Given the description of an element on the screen output the (x, y) to click on. 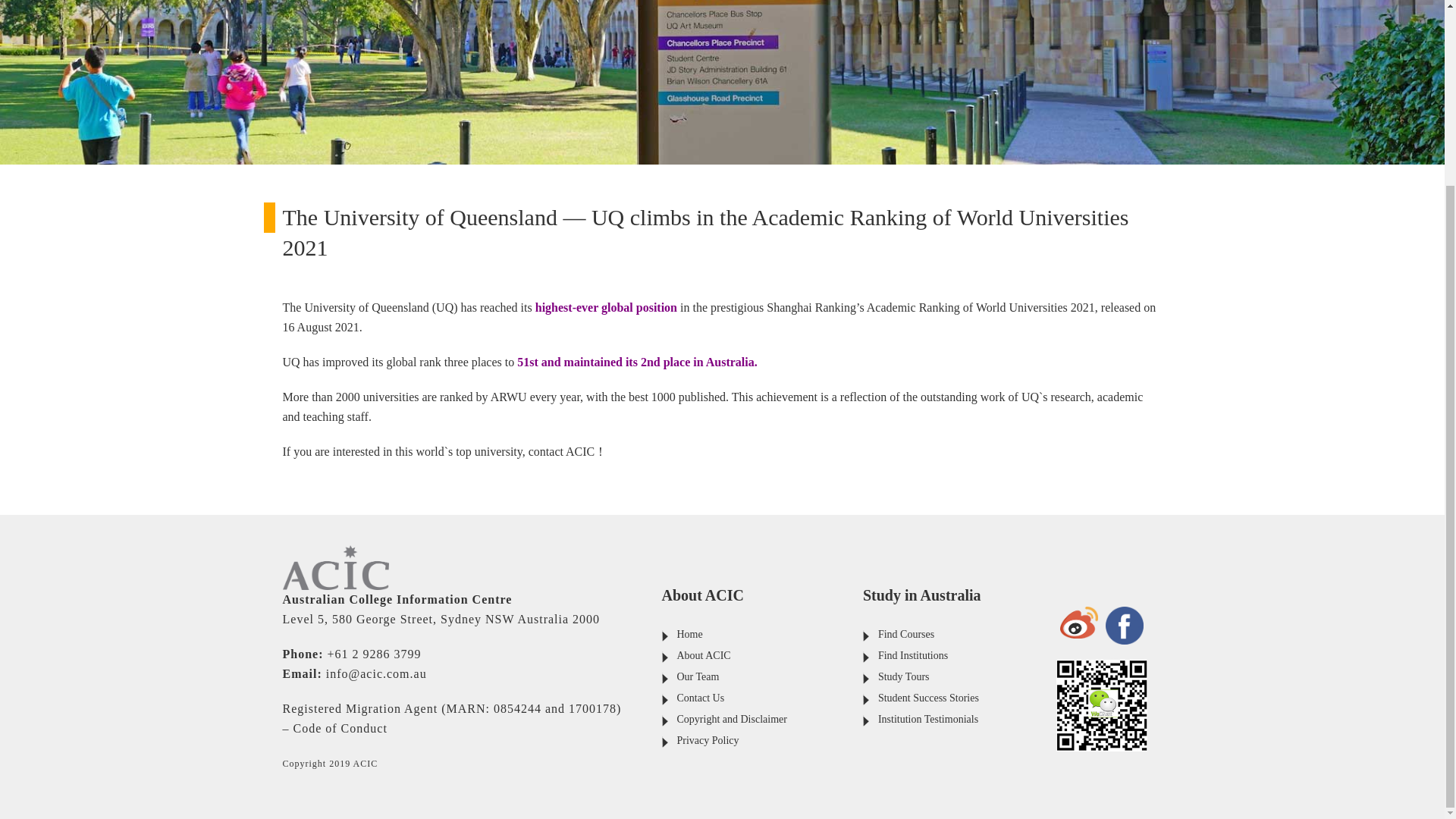
Code of Conduct (339, 727)
Home (689, 633)
About ACIC (703, 655)
